Given the description of an element on the screen output the (x, y) to click on. 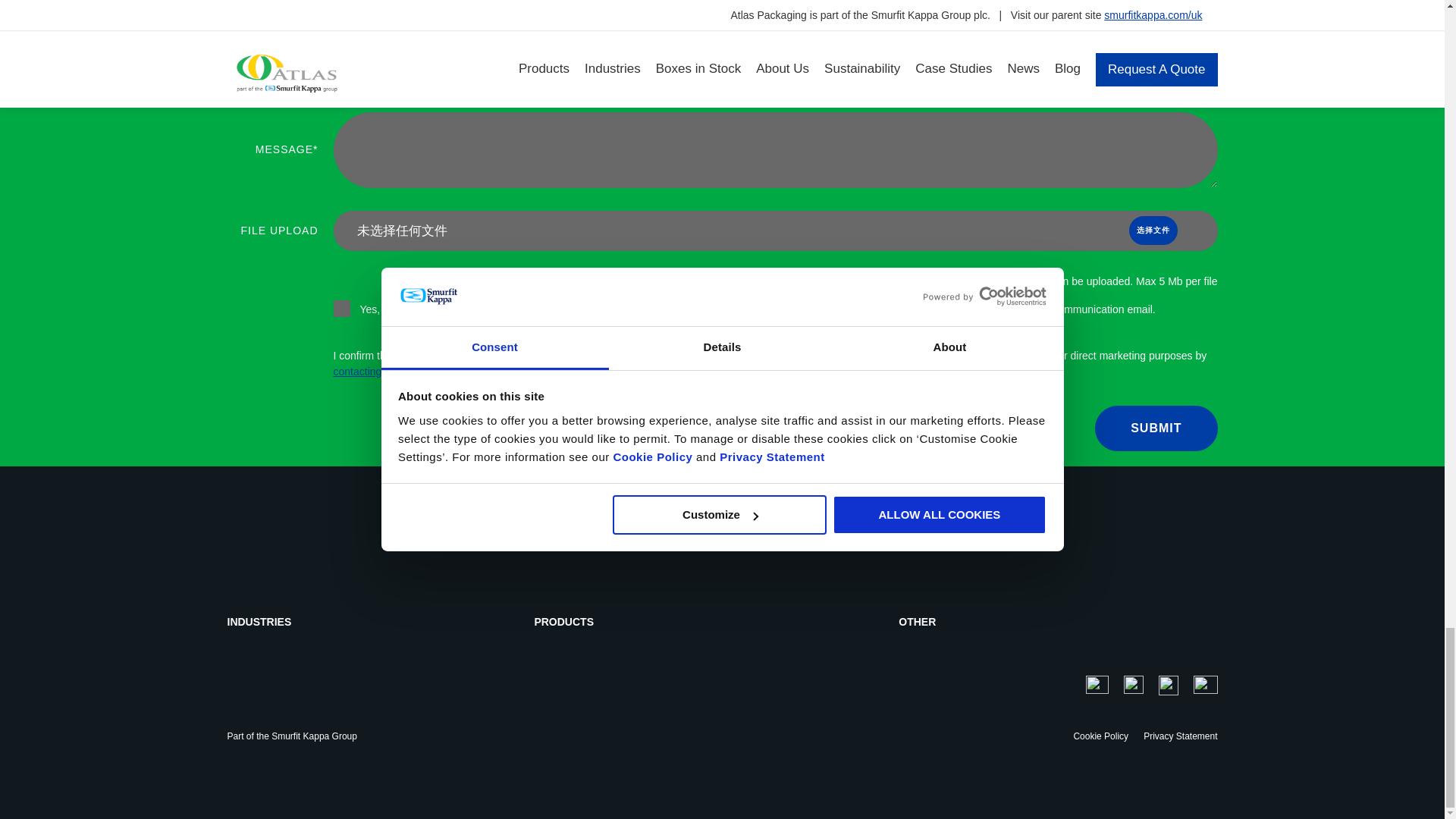
Facebook (1167, 685)
Submit (1155, 428)
YouTube (1205, 684)
true (341, 308)
LinkedIn (1133, 684)
